Given the description of an element on the screen output the (x, y) to click on. 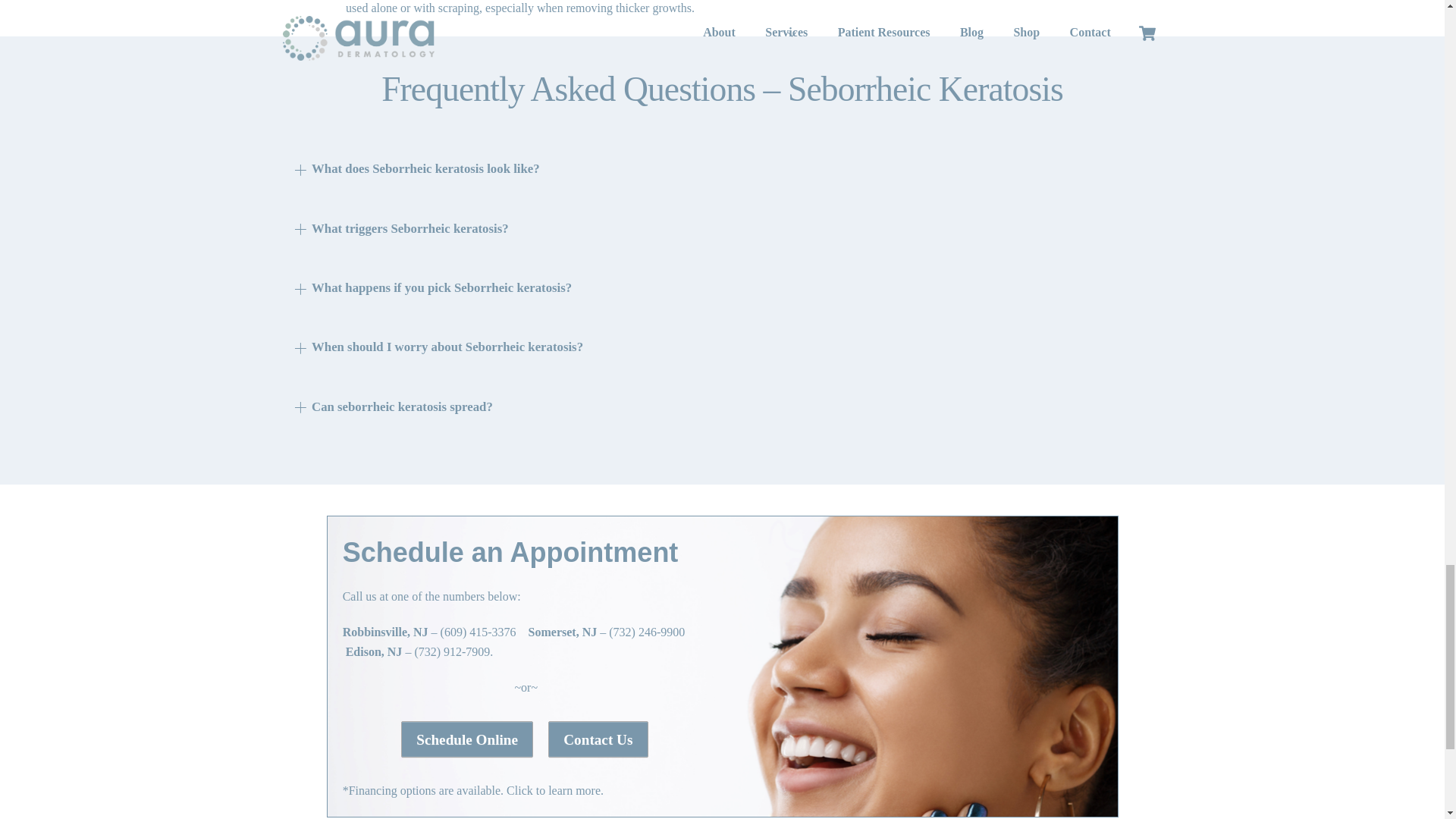
What triggers Seborrheic keratosis? (401, 227)
What does Seborrheic keratosis look like? (417, 168)
Schedule Online (466, 739)
Click to learn more (551, 789)
What happens if you pick Seborrheic keratosis? (433, 287)
When should I worry about Seborrheic keratosis? (438, 347)
Contact Us (597, 739)
Can seborrheic keratosis spread? (393, 406)
